Given the description of an element on the screen output the (x, y) to click on. 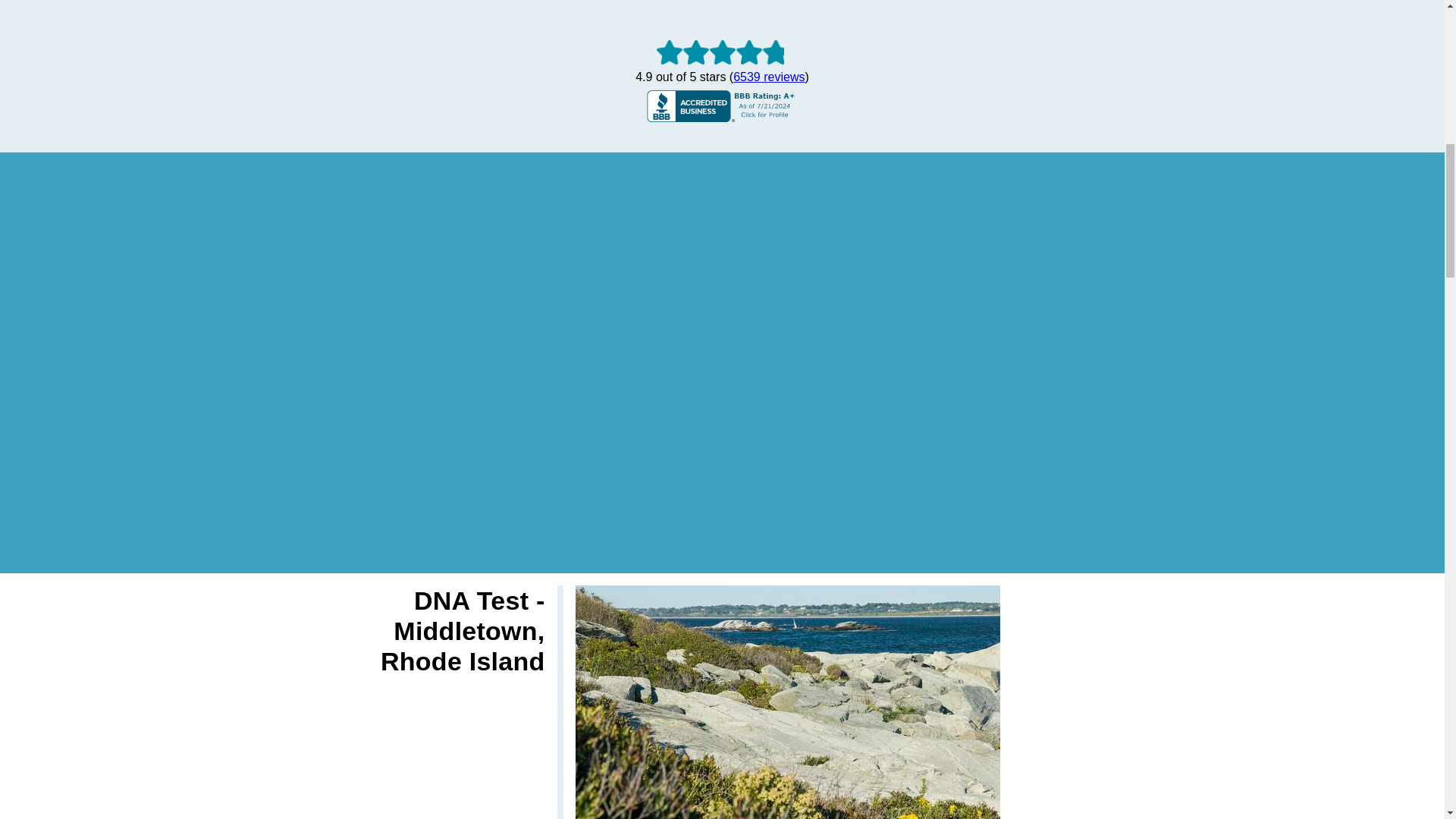
Middletown RI DNA Testing (786, 702)
